Given the description of an element on the screen output the (x, y) to click on. 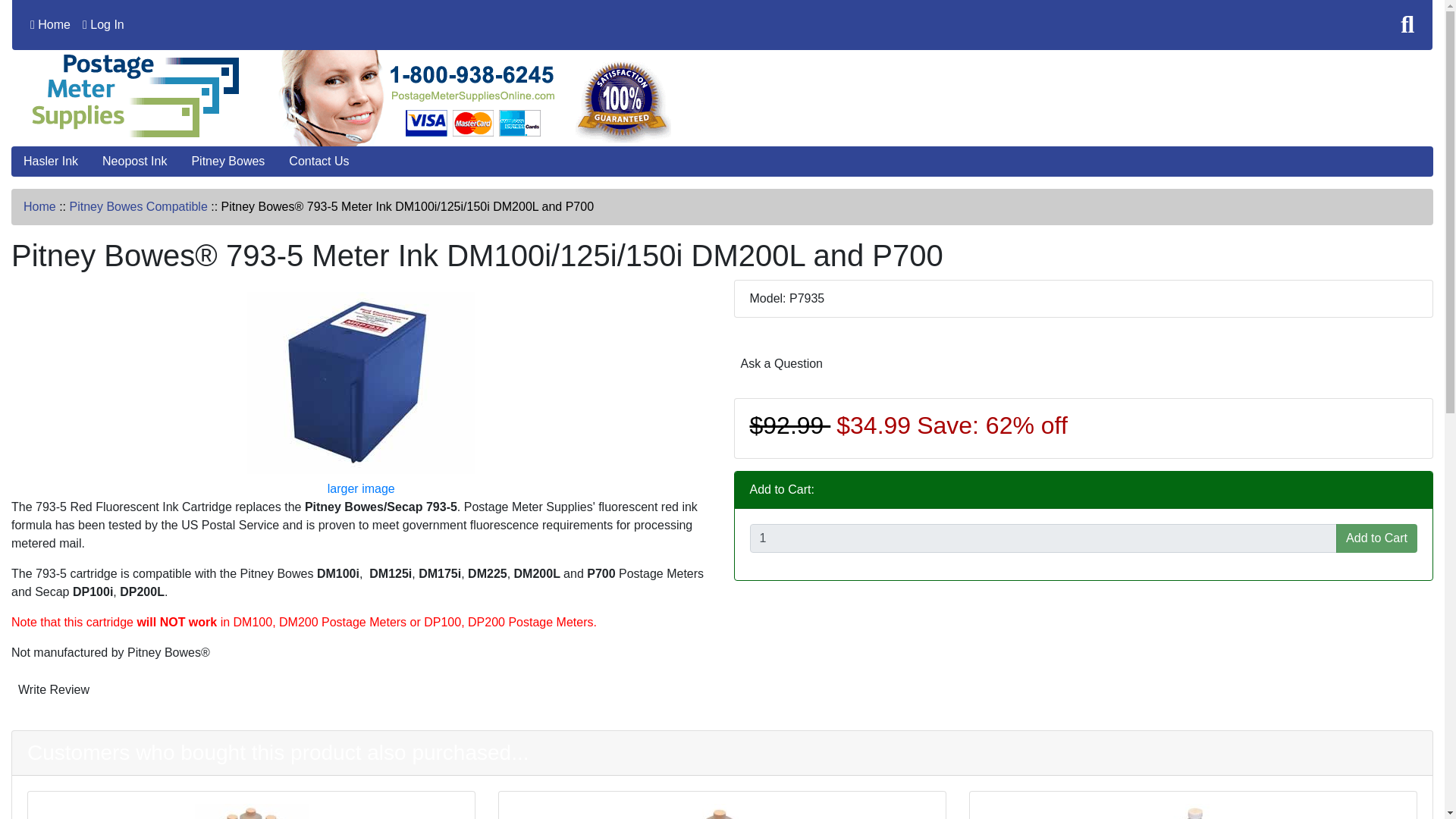
Write Review (53, 689)
Hasler Ink (50, 161)
1 (1042, 538)
Neopost Ink (134, 161)
larger image (361, 435)
Add to Cart (1376, 538)
Home (39, 205)
Pitney Bowes (227, 161)
EZ064 Sealing Solution Half Gallon Bottle (1192, 811)
Ask a Question (781, 364)
